Given the description of an element on the screen output the (x, y) to click on. 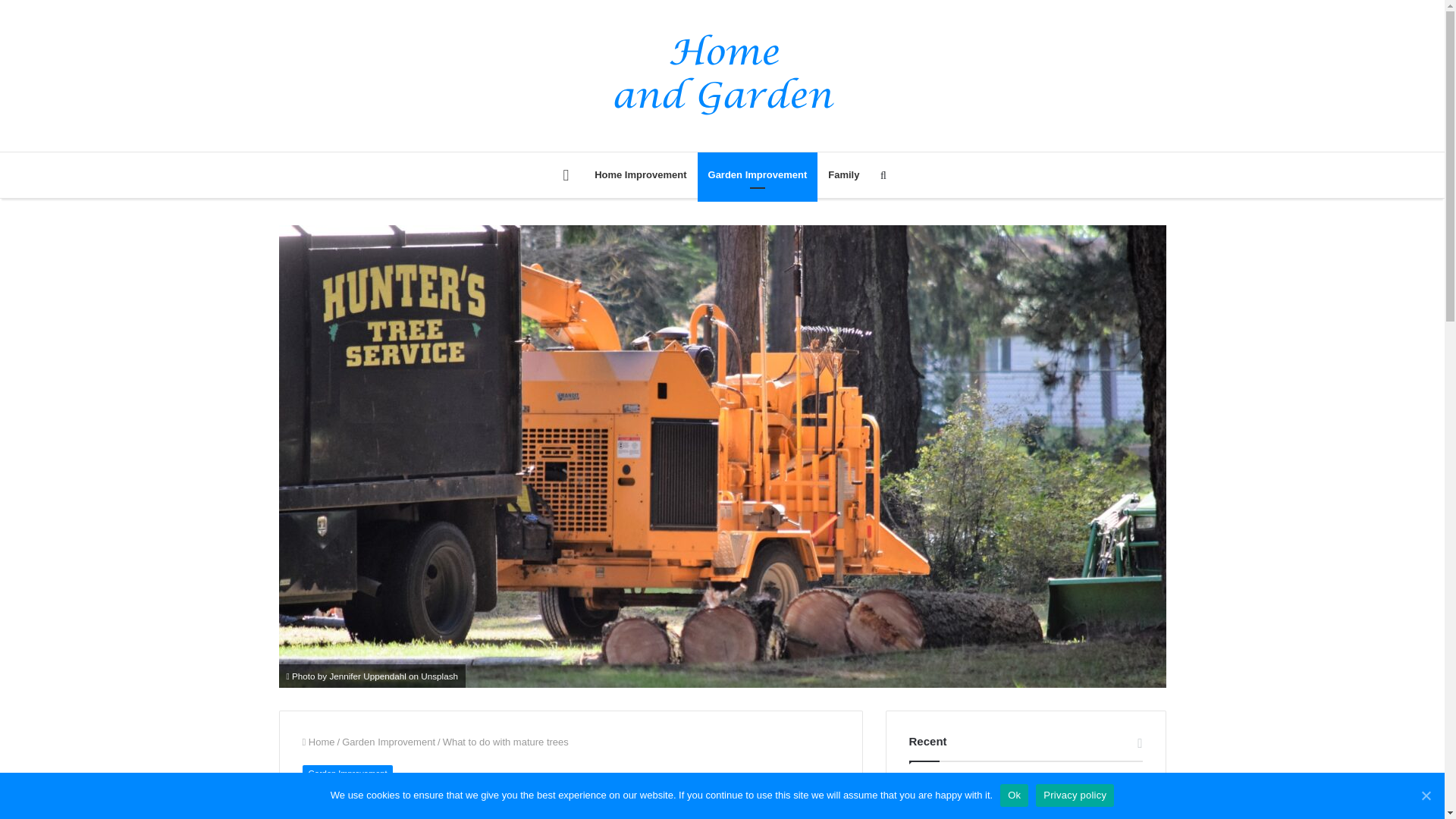
Garden Improvement (757, 175)
Home Improvement (640, 175)
Home (566, 175)
Home and Garden (721, 75)
Garden Improvement (347, 773)
Garden Improvement (388, 741)
Home (317, 741)
Search for (882, 175)
Family (842, 175)
